Given the description of an element on the screen output the (x, y) to click on. 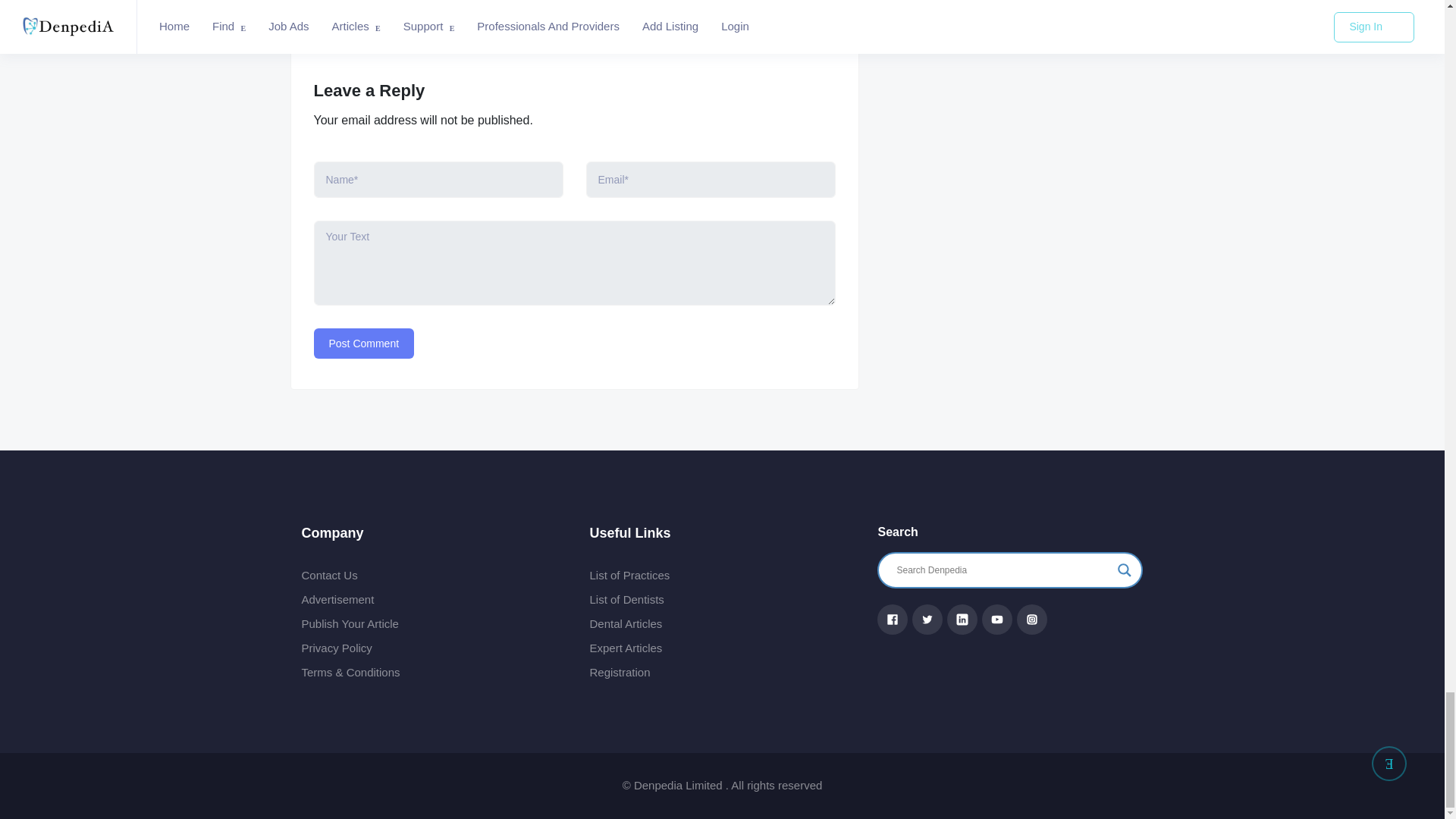
Post Comment (364, 343)
